Given the description of an element on the screen output the (x, y) to click on. 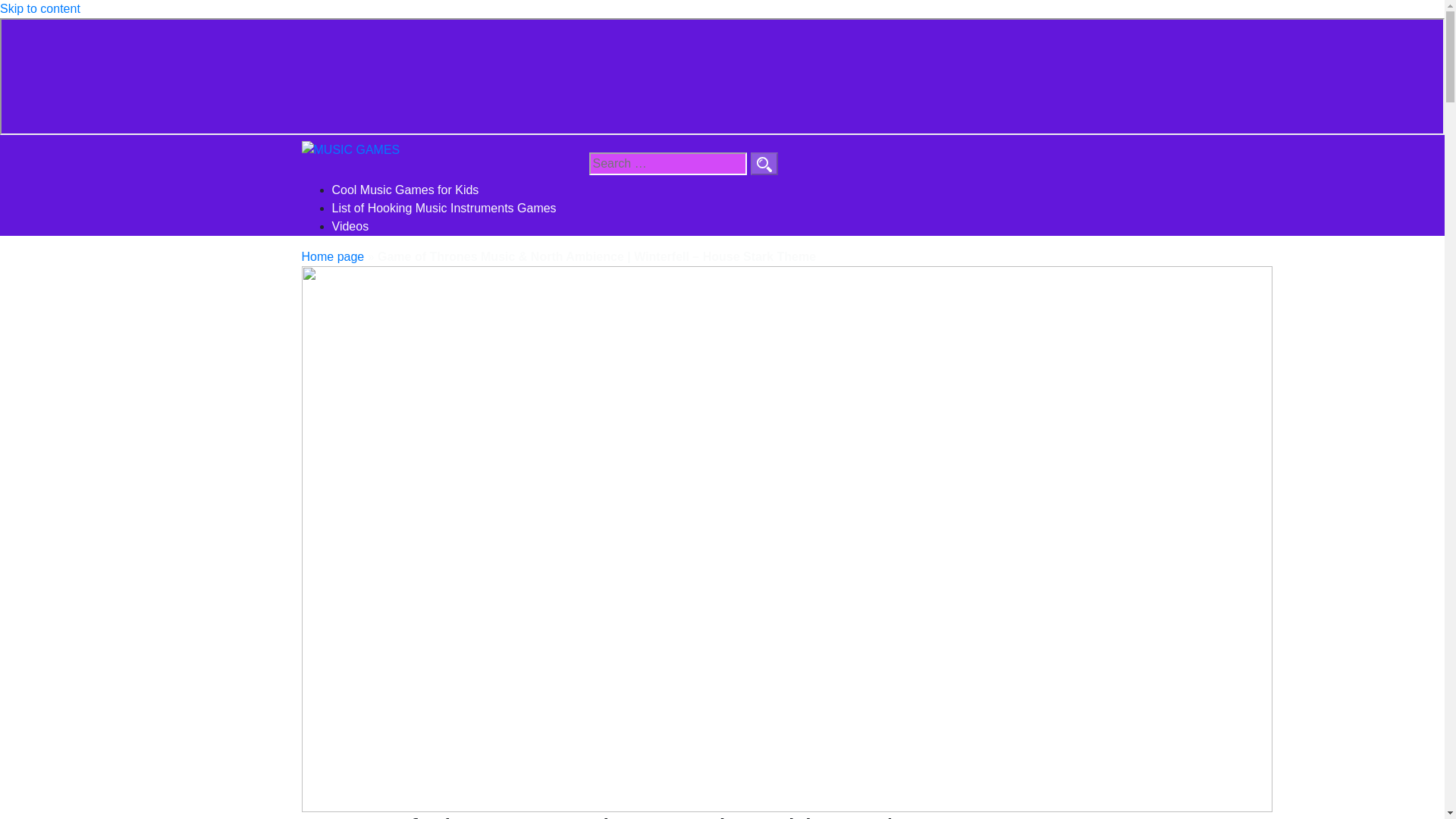
Skip to content (40, 8)
Videos (350, 226)
Home page (333, 256)
Cool Music Games for Kids (405, 189)
List of Hooking Music Instruments Games (443, 207)
